Given the description of an element on the screen output the (x, y) to click on. 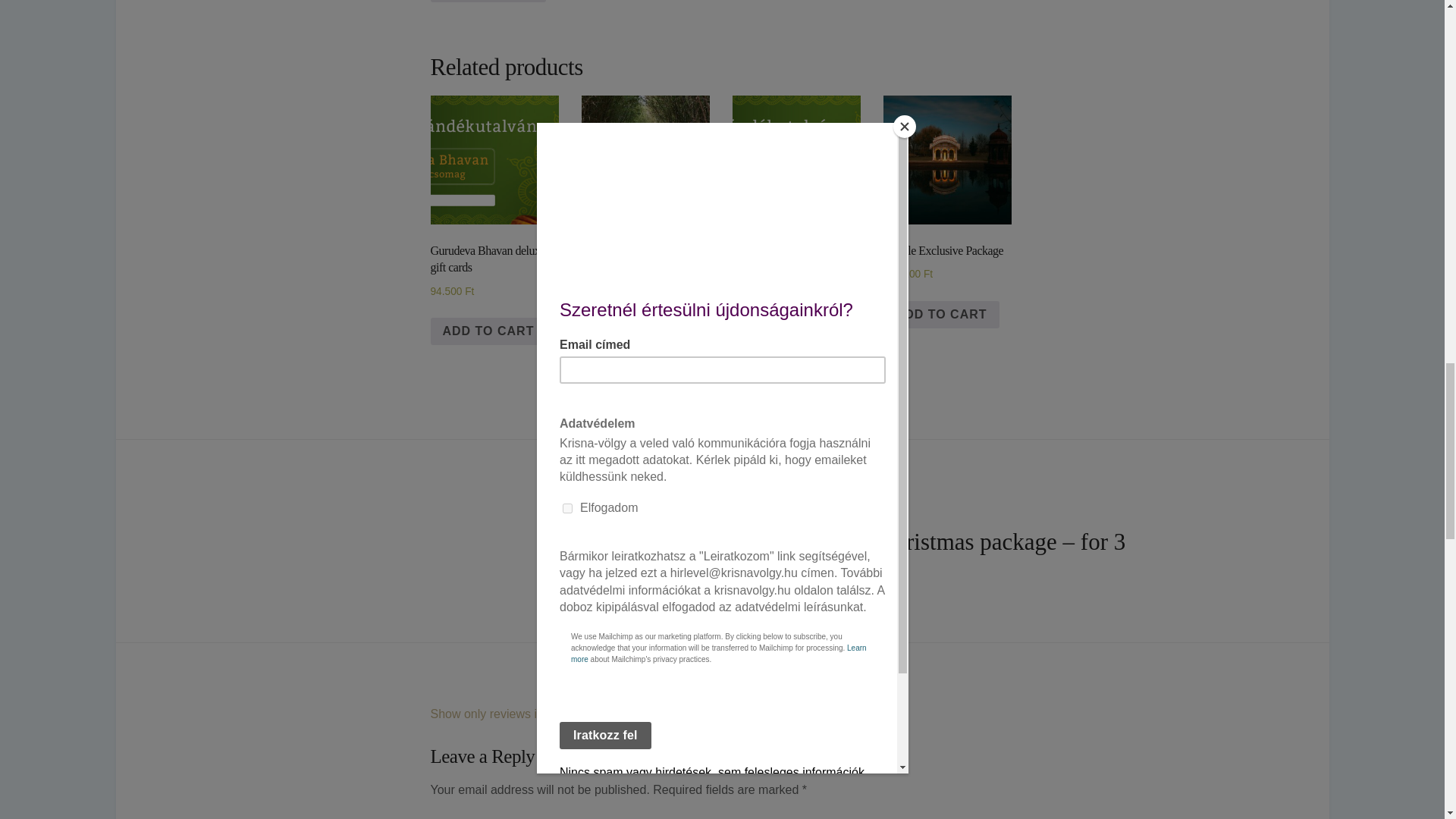
ADD TO CART (488, 1)
